Given the description of an element on the screen output the (x, y) to click on. 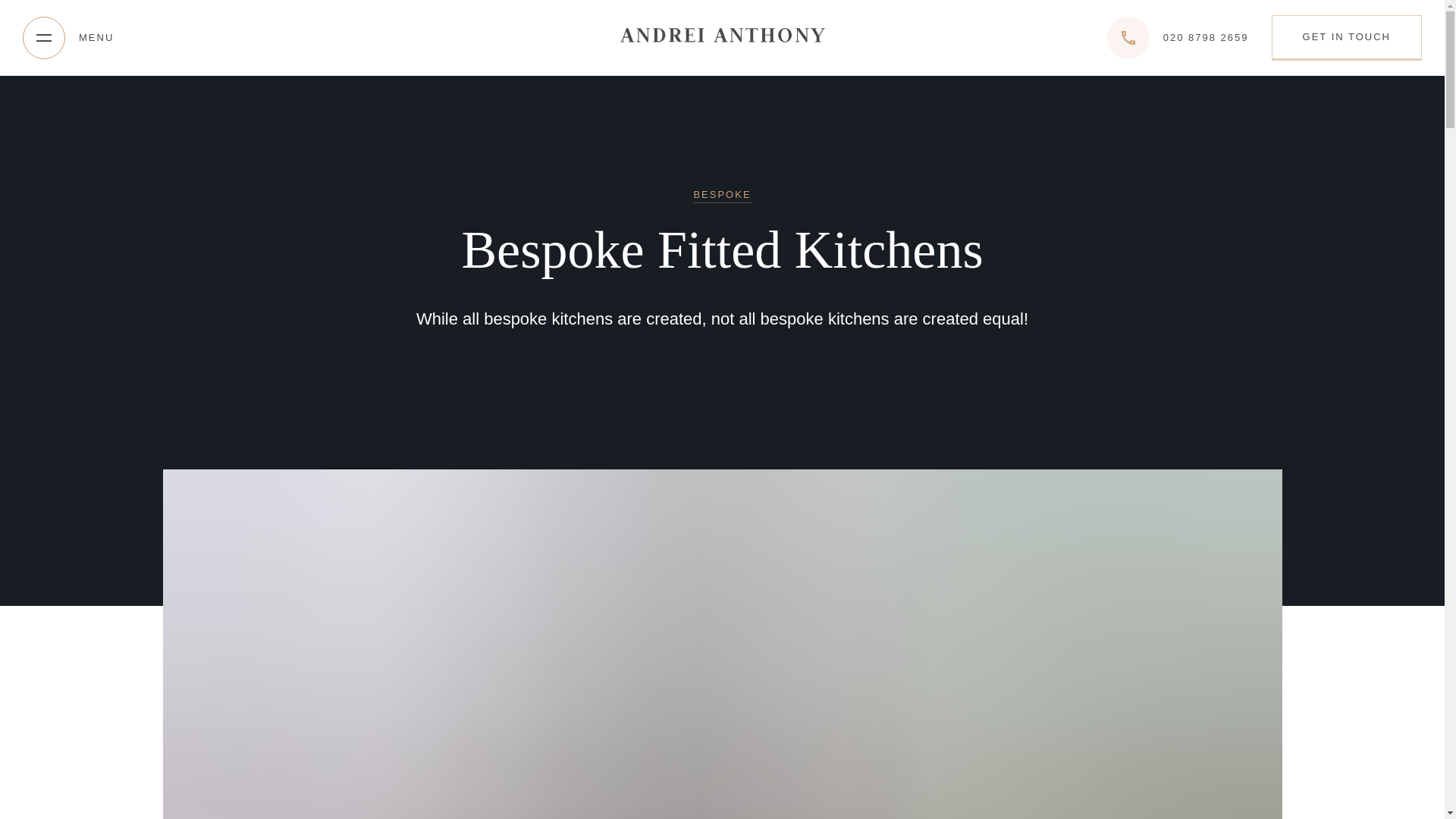
020 8798 2659 (1177, 37)
GET IN TOUCH (1346, 37)
GET IN TOUCH (1346, 37)
Andrei Anthony (722, 37)
BESPOKE (722, 196)
